Given the description of an element on the screen output the (x, y) to click on. 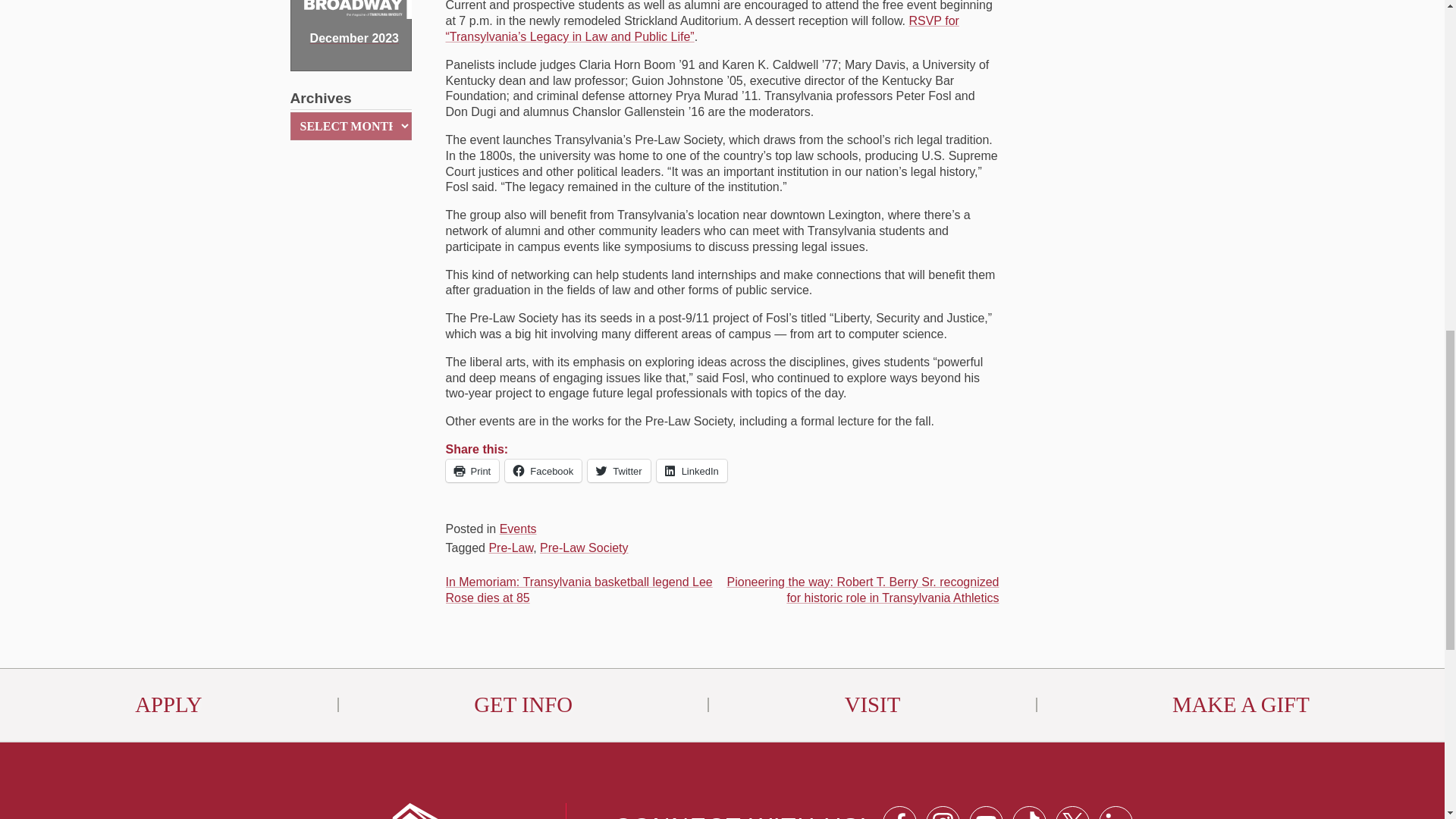
Click to share on Facebook (542, 470)
Click to share on LinkedIn (691, 470)
Click to print (472, 470)
Click to share on Twitter (618, 470)
